Given the description of an element on the screen output the (x, y) to click on. 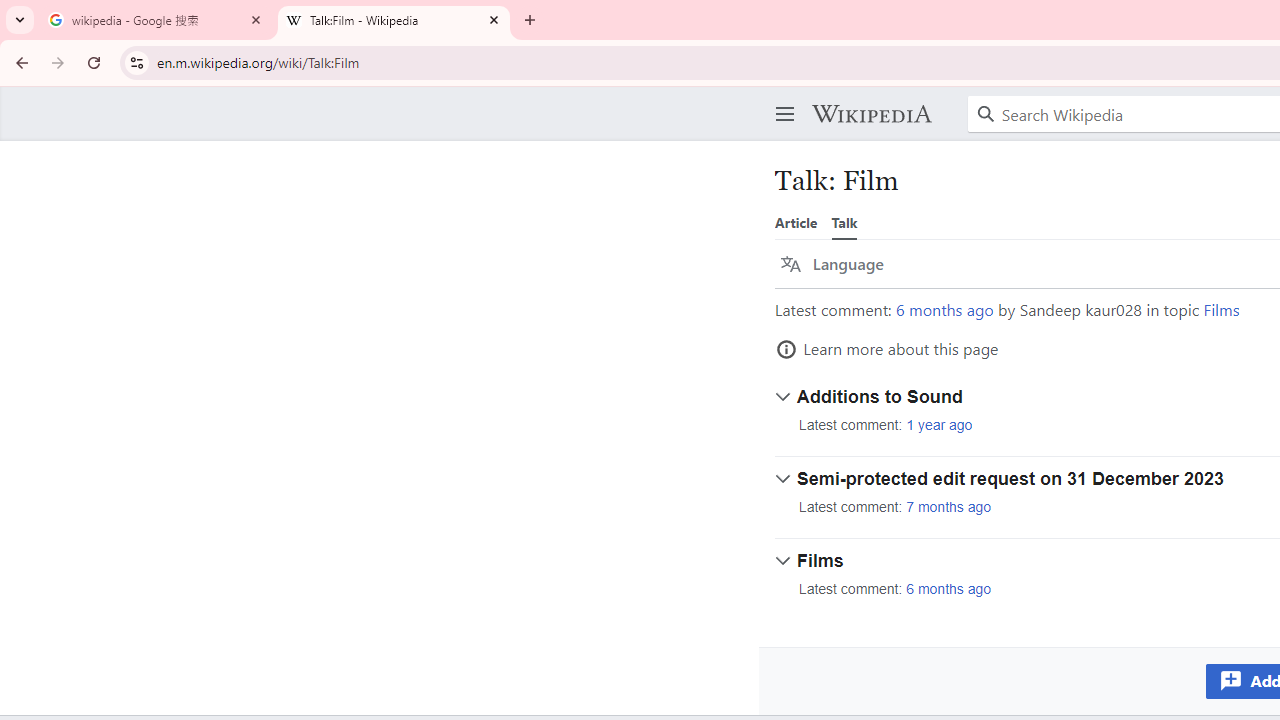
Language (832, 264)
Talk (843, 222)
AutomationID: main-menu-input (781, 98)
Talk:Film - Wikipedia (394, 20)
Films (1221, 309)
1 year ago (939, 425)
Article (795, 222)
